Given the description of an element on the screen output the (x, y) to click on. 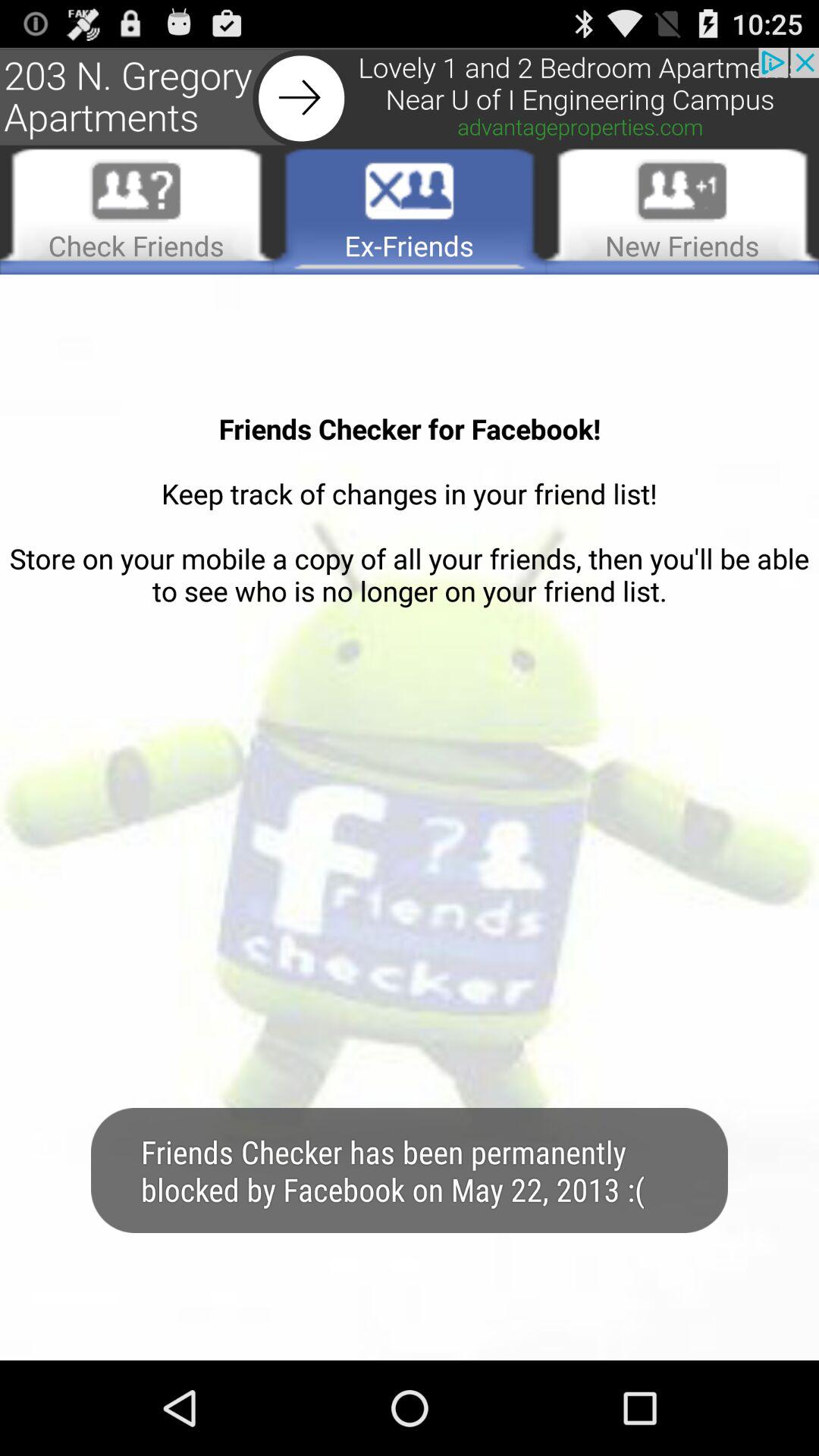
advertisement link (409, 97)
